Given the description of an element on the screen output the (x, y) to click on. 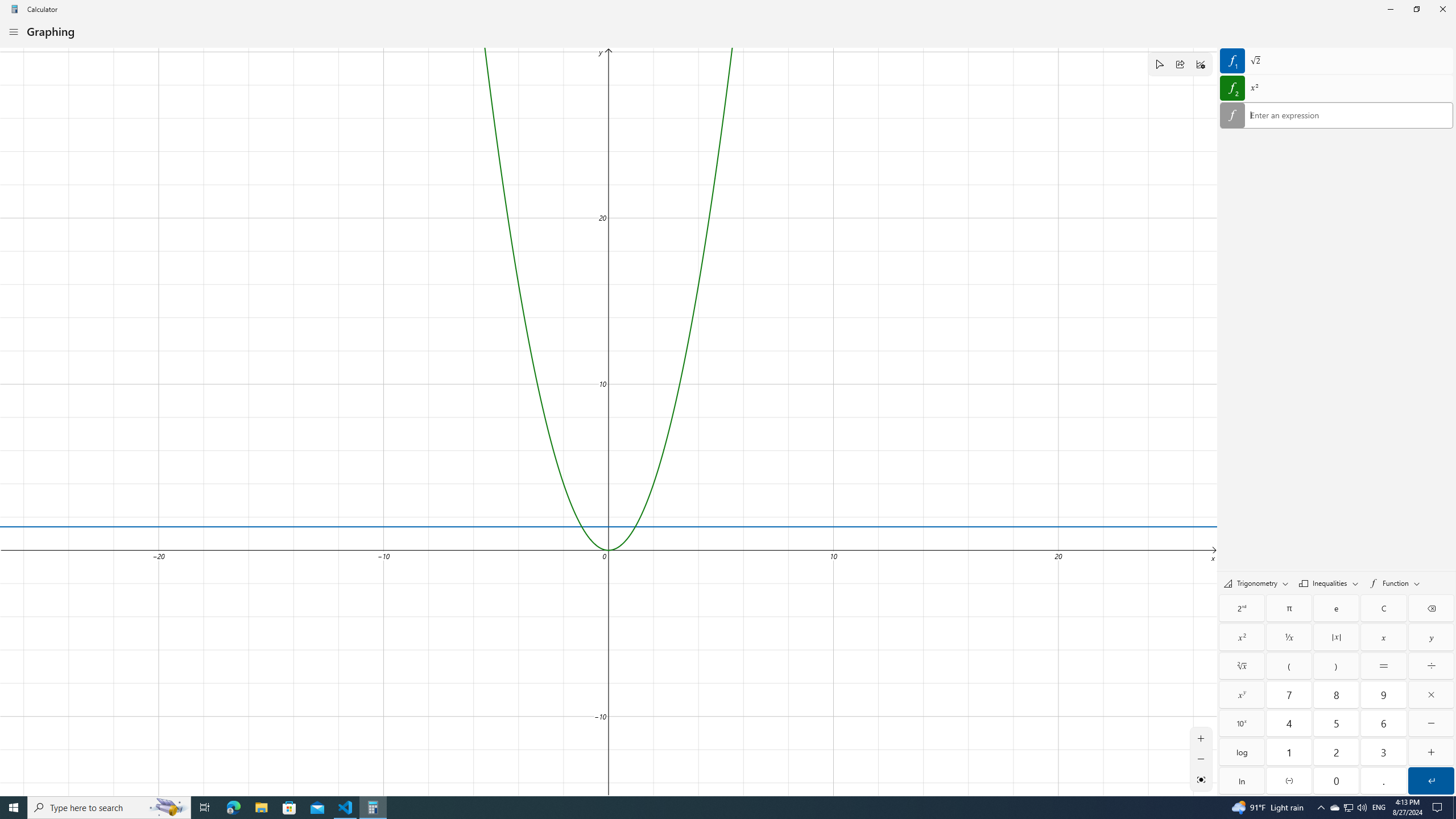
Nine (1382, 694)
Right parenthesis (1336, 665)
Decimal separator (1382, 780)
Two (1336, 751)
Hide equation 3 (1232, 115)
Five (1336, 723)
Left parenthesis (1288, 665)
Clear (1382, 608)
Backspace (1430, 608)
X (1382, 637)
